Given the description of an element on the screen output the (x, y) to click on. 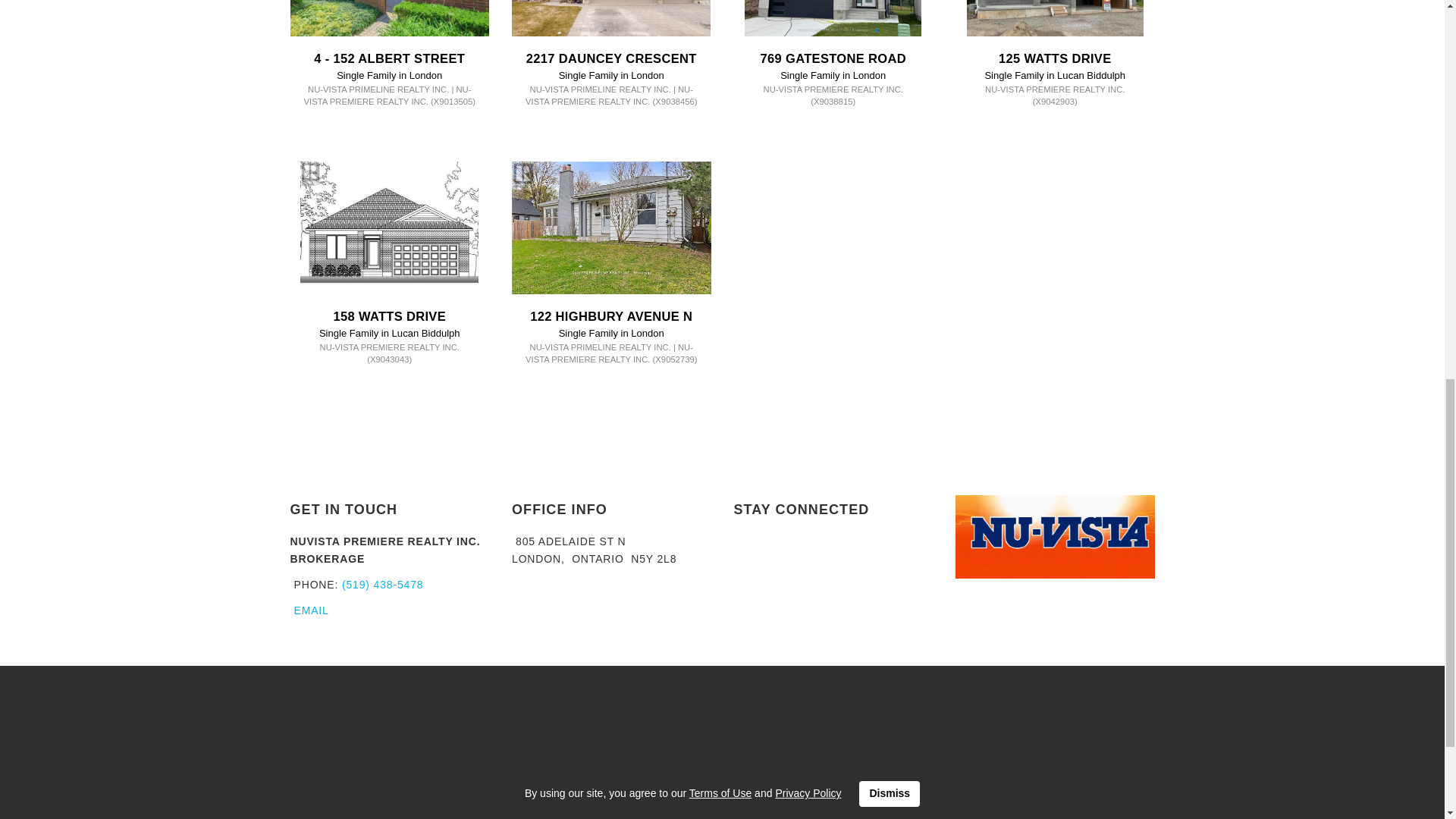
769 GATESTONE ROAD (832, 58)
125 WATTS DRIVE (1055, 58)
4 - 152 ALBERT STREET (389, 58)
2217 DAUNCEY CRESCENT (611, 58)
